Given the description of an element on the screen output the (x, y) to click on. 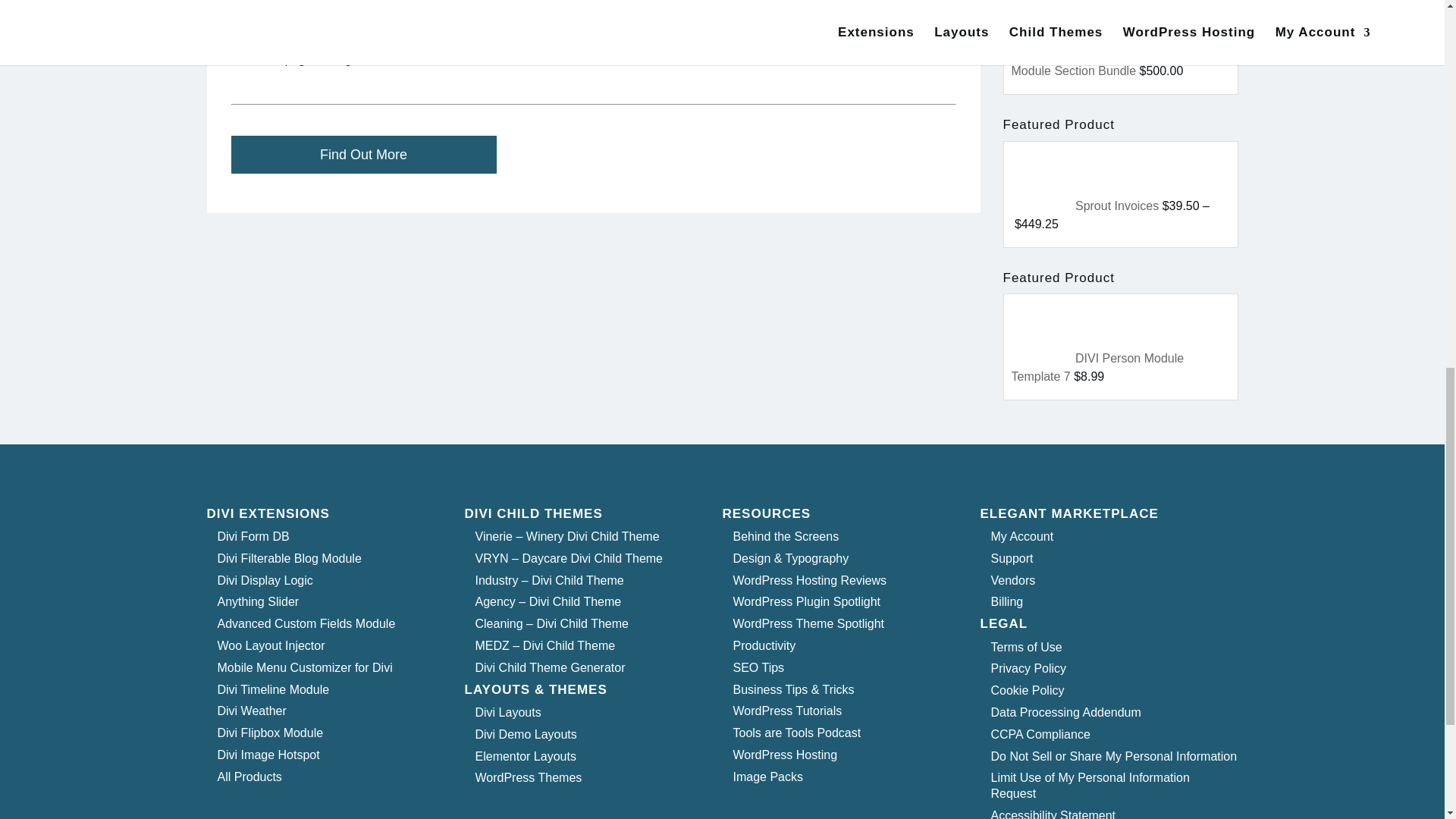
Ultimate Divi Portfolio Module Section Bundle (1041, 28)
DIVI Person Module Template 7 (1043, 358)
DIVI Person Module Template 7 (1098, 367)
Sprout Invoices (1041, 179)
Divi Display Logic (264, 580)
Sprout Invoices (1116, 205)
Ultimate Divi Portfolio Module Section Bundle (1101, 60)
Advanced Custom Fields Module (305, 623)
Ultimate Divi Portfolio Module Section Bundle (1043, 51)
Sprout Invoices (1043, 205)
DIVI Person Module Template 7 (1098, 367)
Divi Form DB (252, 535)
DIVI Person Module Template 7 (1041, 332)
Divi Filterable Blog Module (288, 558)
Anything Slider (257, 601)
